Given the description of an element on the screen output the (x, y) to click on. 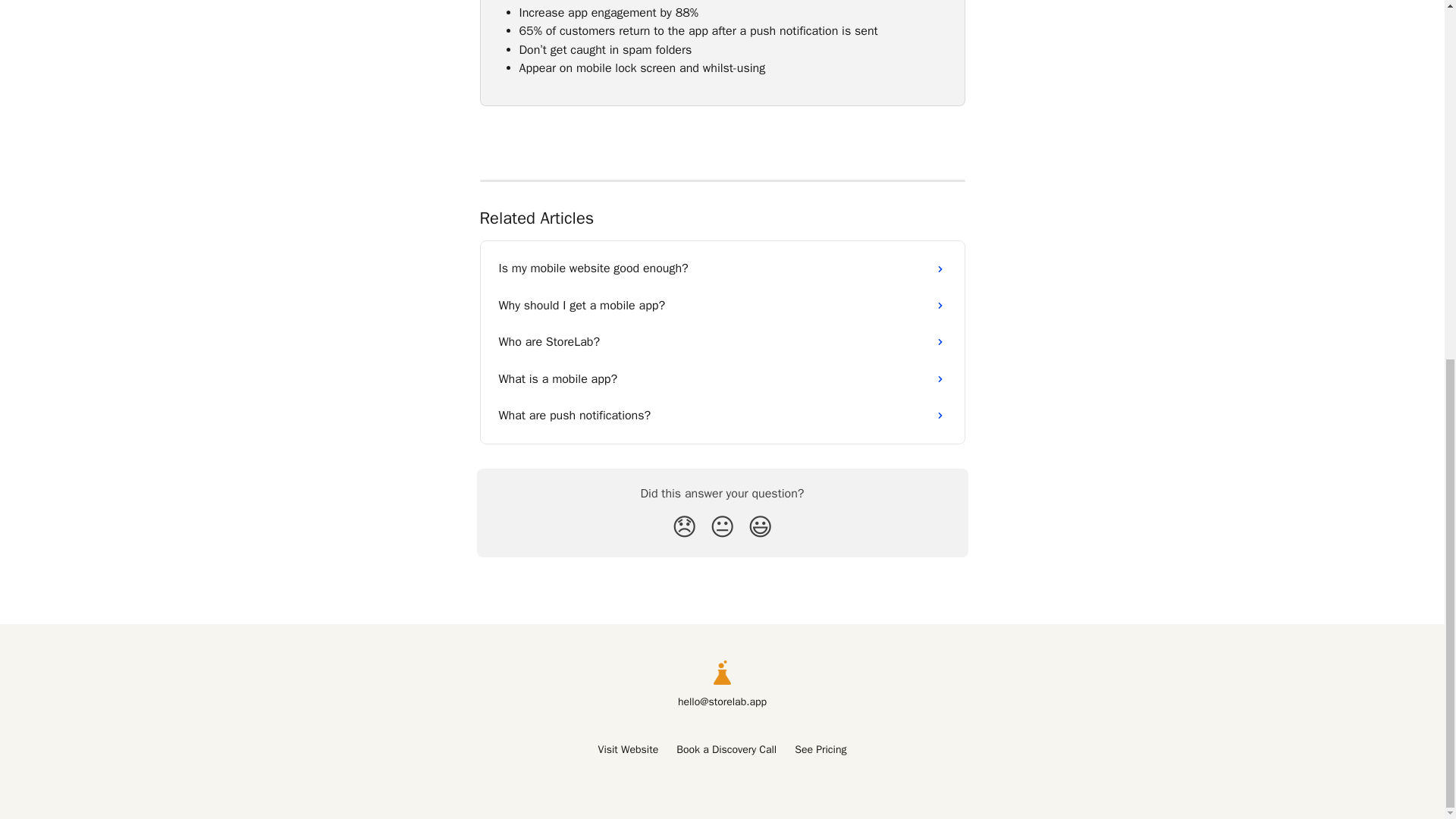
What are push notifications? (722, 415)
What is a mobile app? (722, 379)
Is my mobile website good enough? (722, 268)
Why should I get a mobile app? (722, 305)
Book a Discovery Call (726, 748)
See Pricing (819, 748)
Visit Website (628, 748)
Who are StoreLab? (722, 341)
